Given the description of an element on the screen output the (x, y) to click on. 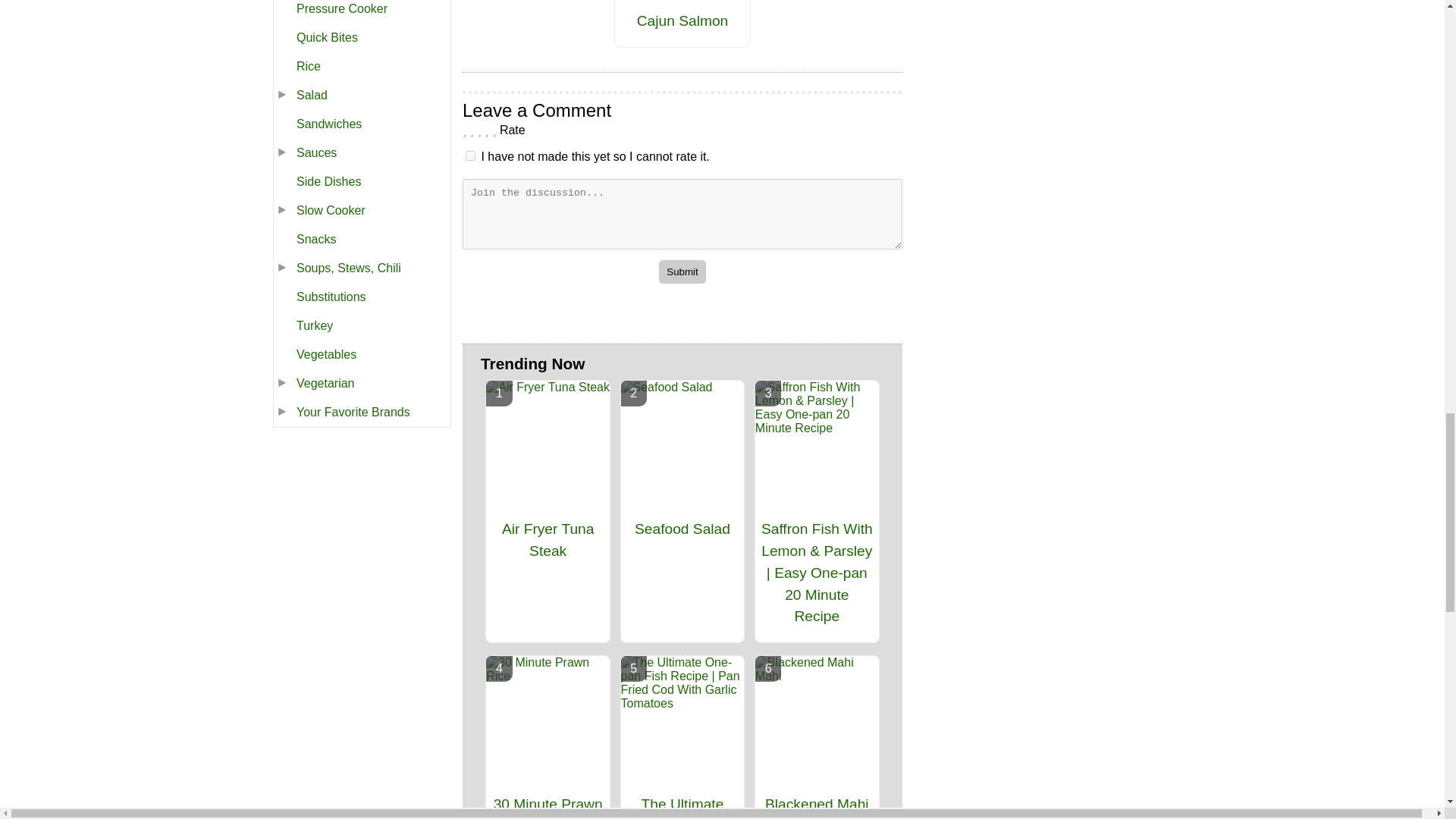
Submit (681, 271)
1 (470, 155)
